Given the description of an element on the screen output the (x, y) to click on. 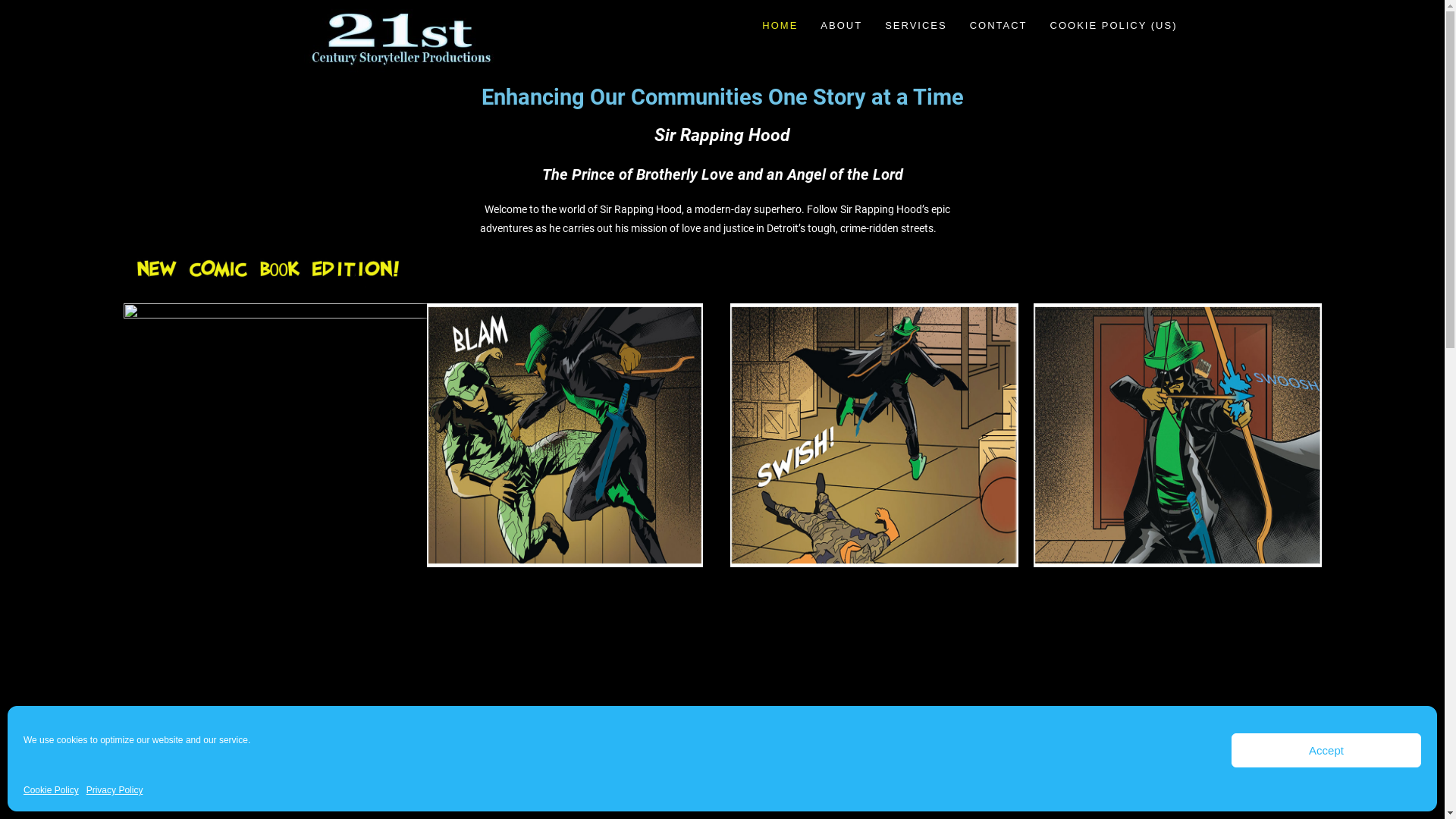
Accept Element type: text (1326, 750)
SERVICES Element type: text (915, 25)
Cookie Policy Element type: text (50, 790)
Privacy Policy Element type: text (114, 790)
ABOUT Element type: text (841, 25)
HOME Element type: text (779, 25)
CONTACT Element type: text (998, 25)
COOKIE POLICY (US) Element type: text (1113, 25)
